Given the description of an element on the screen output the (x, y) to click on. 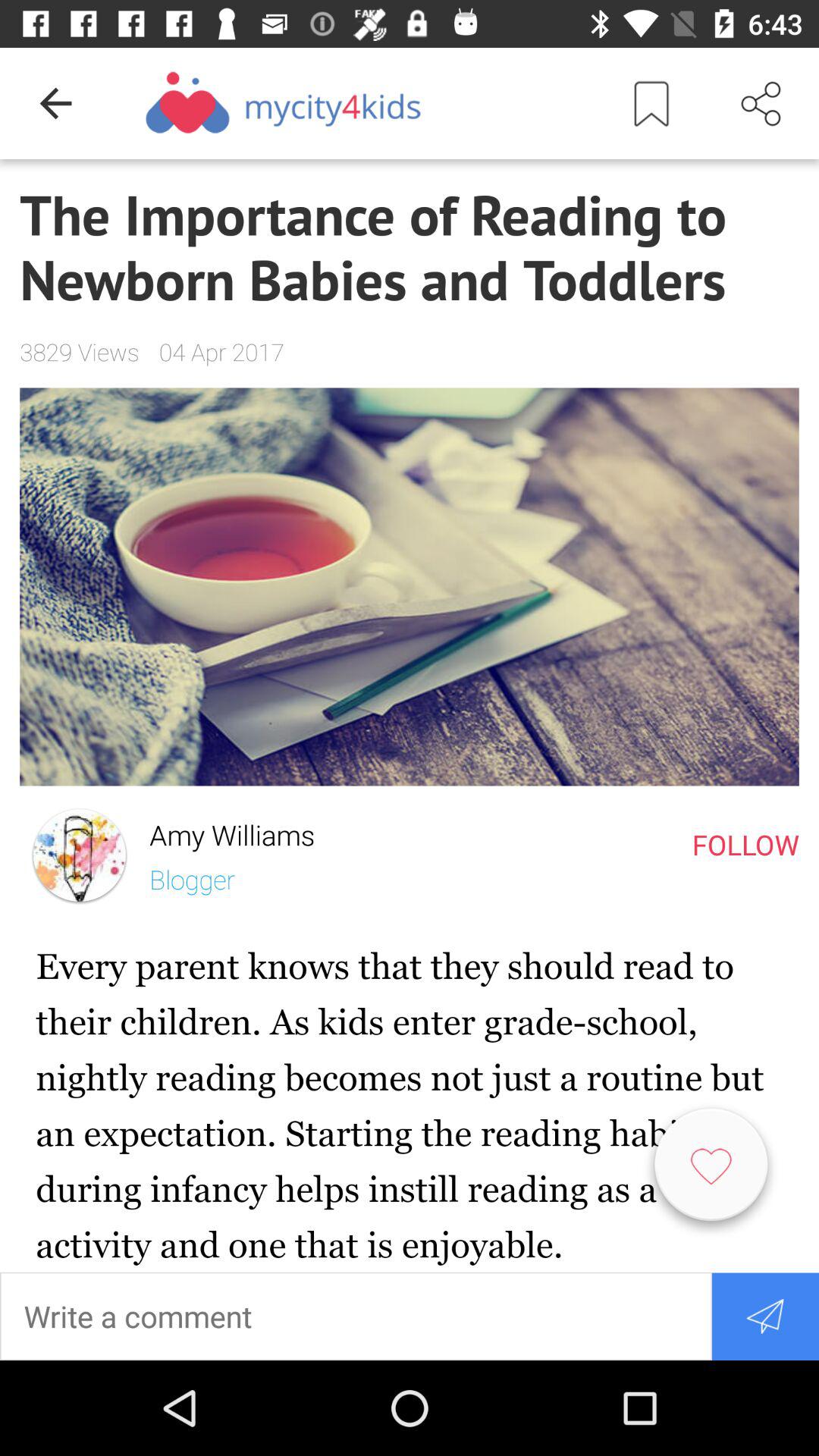
choose the item next to follow icon (222, 831)
